Given the description of an element on the screen output the (x, y) to click on. 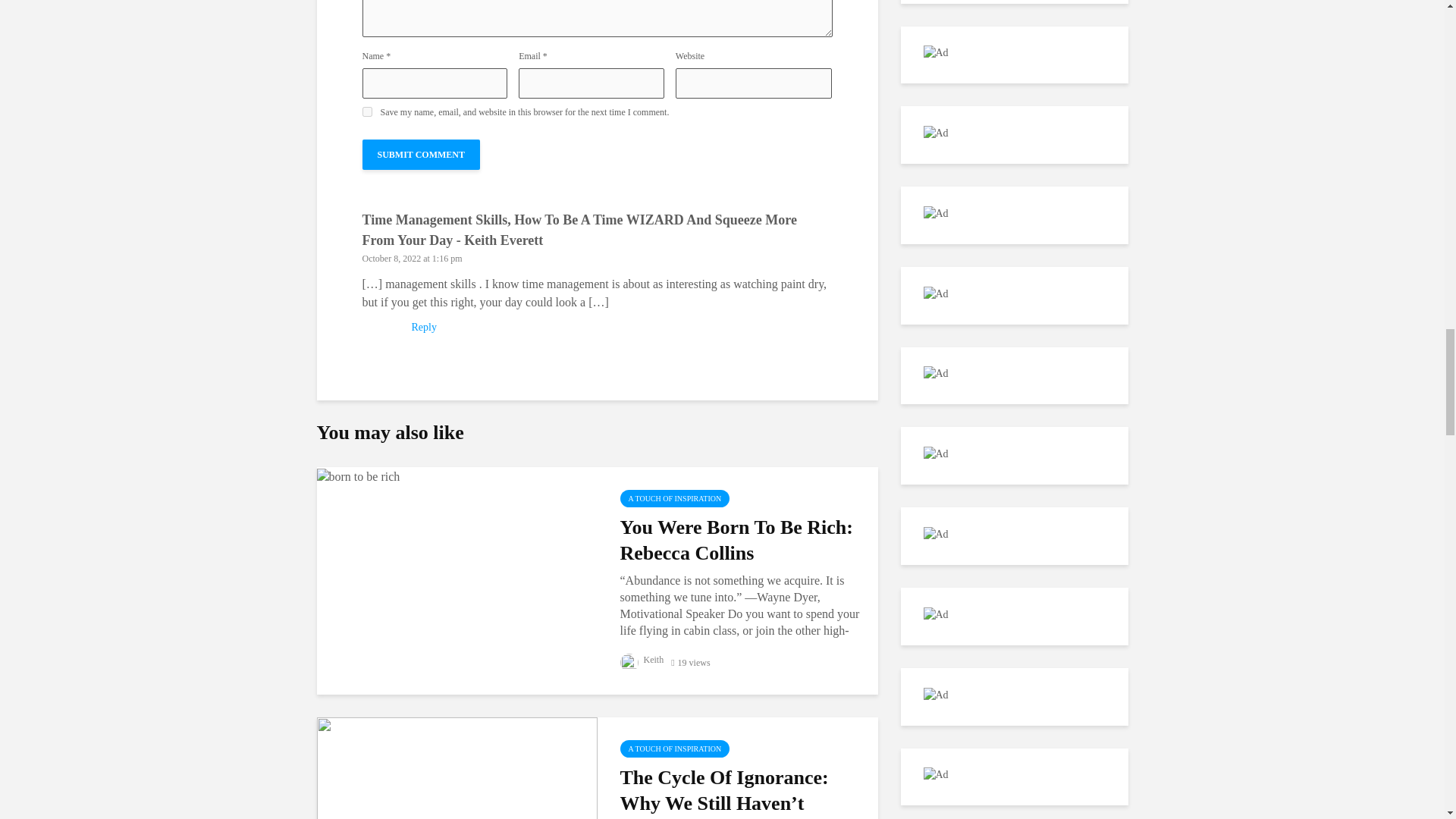
Submit Comment (421, 154)
You Were Born To Be Rich: Rebecca Collins (358, 474)
yes (367, 112)
